Given the description of an element on the screen output the (x, y) to click on. 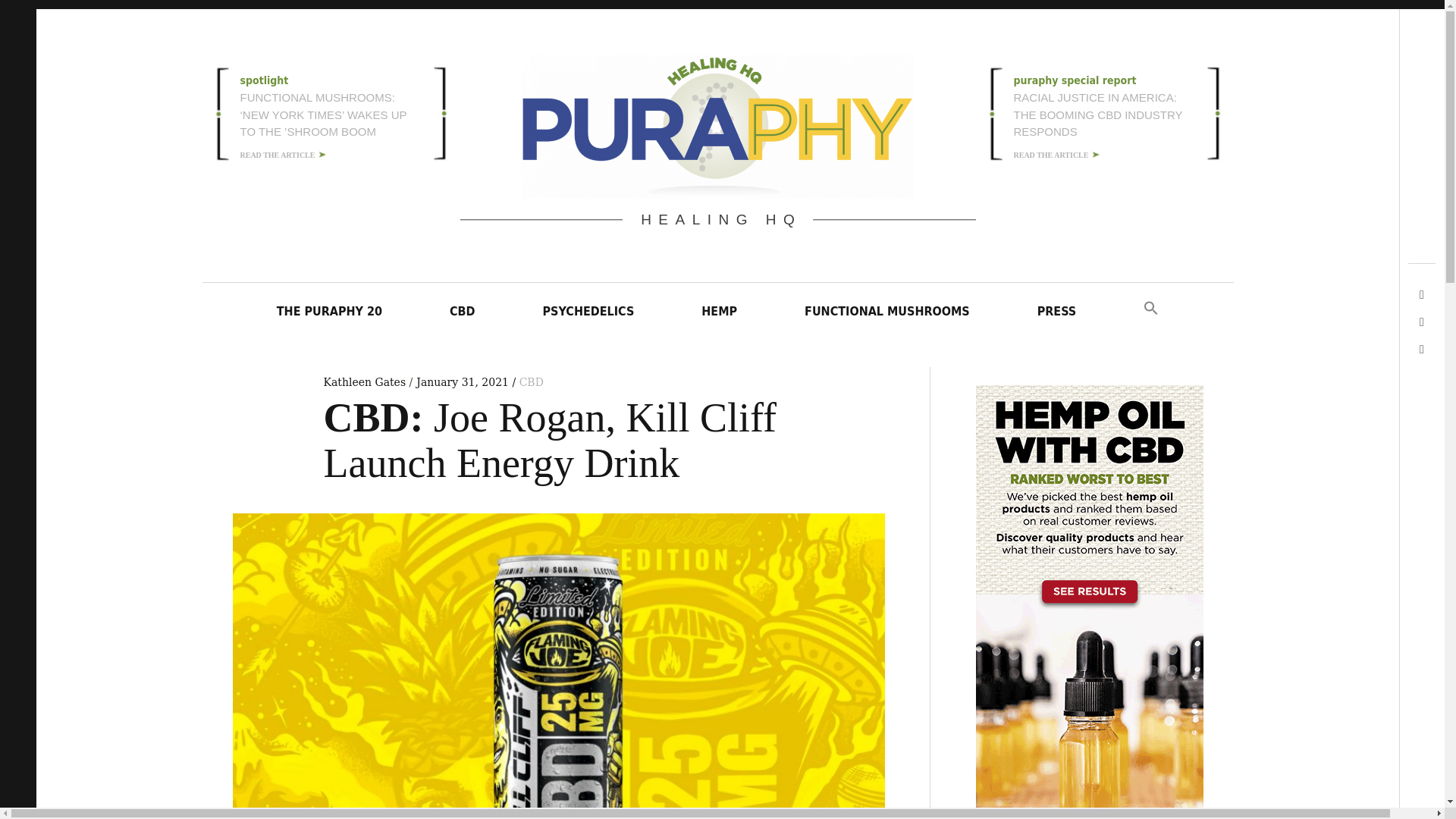
RACIAL JUSTICE IN AMERICA: THE BOOMING CBD INDUSTRY RESPONDS (1097, 114)
THE PURAPHY 20 (328, 311)
HEMP (718, 311)
Facebook (1369, 90)
PSYCHEDELICS (588, 311)
Twitter (1375, 64)
Search (21, 16)
January 31, 2021 (462, 381)
Search (1375, 117)
CBD (531, 381)
